Given the description of an element on the screen output the (x, y) to click on. 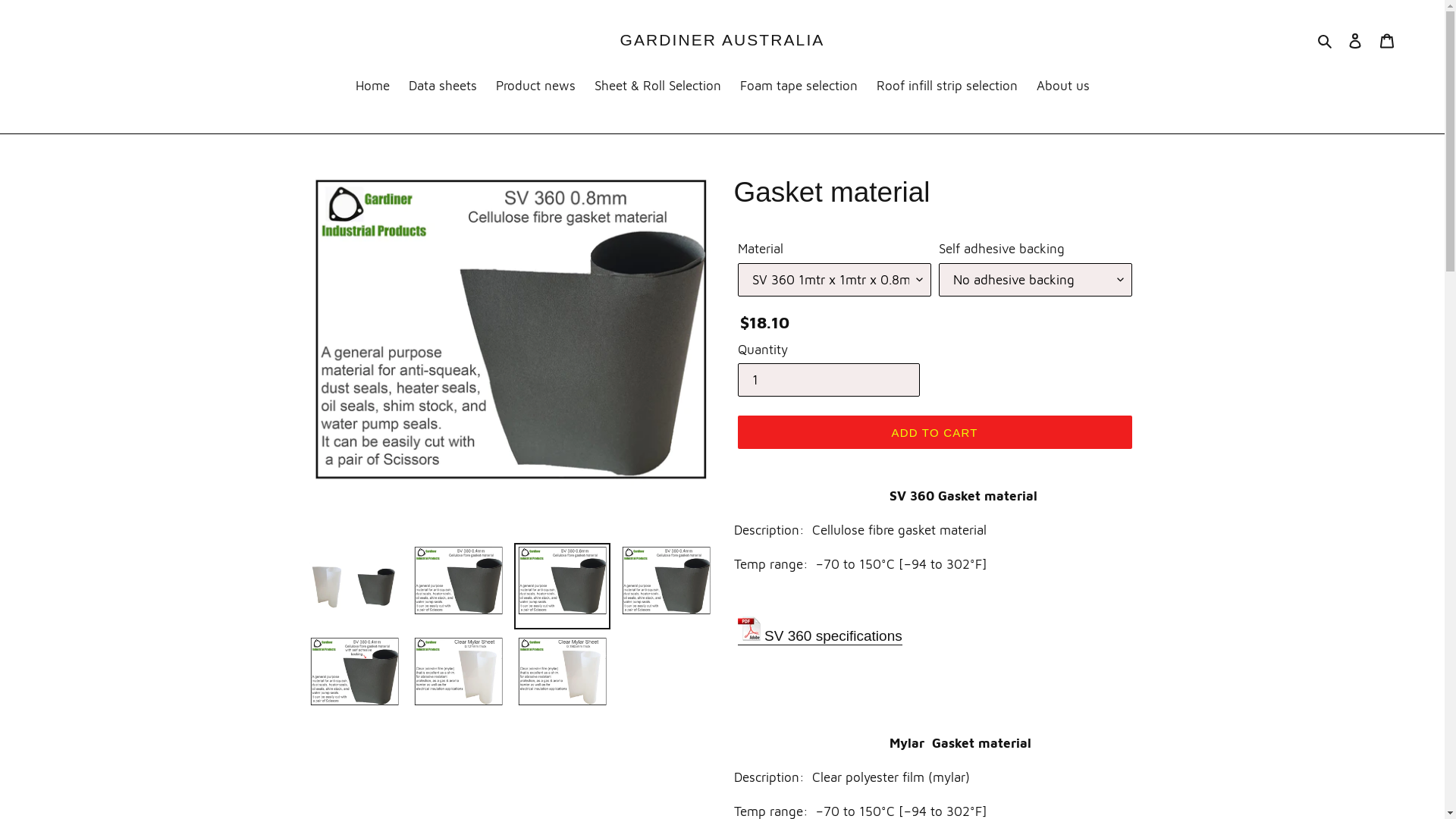
Product news Element type: text (535, 86)
Sheet & Roll Selection Element type: text (657, 86)
Log in Element type: text (1355, 39)
Data sheets Element type: text (441, 86)
Home Element type: text (371, 86)
ADD TO CART Element type: text (934, 431)
About us Element type: text (1062, 86)
Foam tape selection Element type: text (798, 86)
Search Element type: text (1325, 39)
 SV 360 specifications Element type: text (819, 636)
GARDINER AUSTRALIA Element type: text (722, 39)
Cart Element type: text (1386, 39)
Roof infill strip selection Element type: text (947, 86)
